Given the description of an element on the screen output the (x, y) to click on. 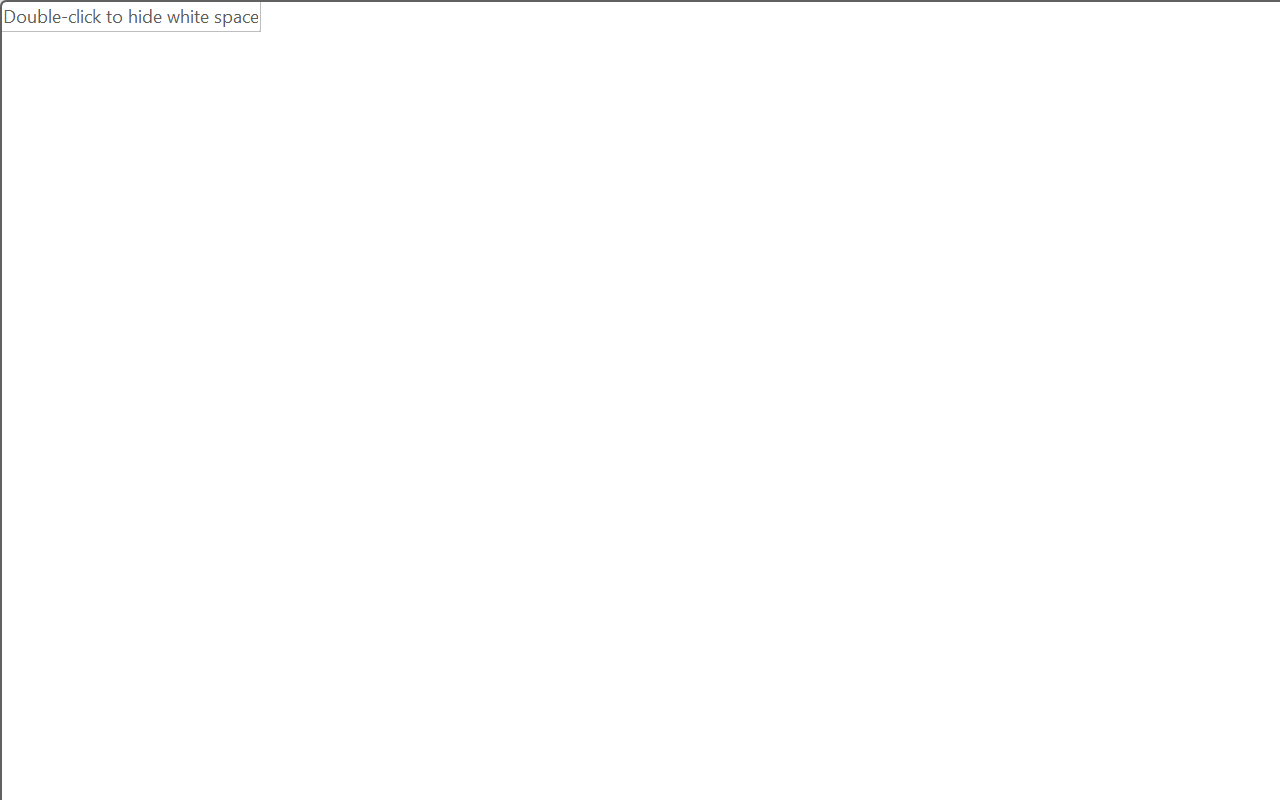
Character Shading (618, 201)
Font Color (567, 201)
Shading (993, 201)
Format Painter (112, 218)
Cut (112, 141)
Text Highlight Color (506, 201)
Distributed (872, 201)
Italic (212, 201)
Enclose Characters... (656, 201)
